Given the description of an element on the screen output the (x, y) to click on. 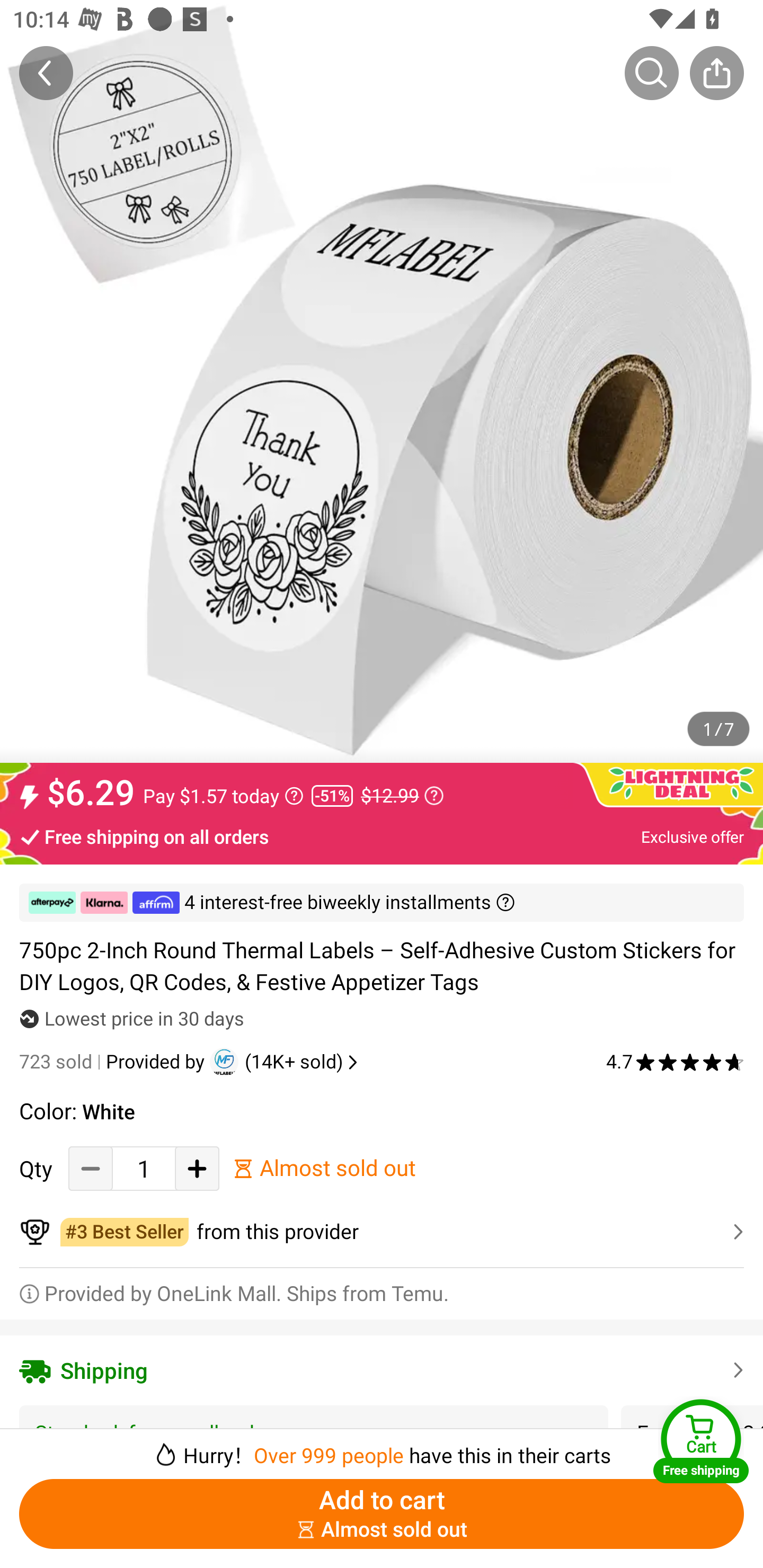
Back (46, 72)
Share (716, 72)
Pay $1.57 today   (223, 795)
Free shipping on all orders Exclusive offer (381, 836)
￼ ￼ ￼ 4 interest-free biweekly installments ￼ (381, 902)
723 sold Provided by  (114, 1061)
4.7 (674, 1061)
Decrease Quantity Button (90, 1168)
1 (143, 1168)
Add Quantity button (196, 1168)
￼￼from this provider (381, 1231)
Shipping (381, 1369)
Cart Free shipping Cart (701, 1440)
￼￼Hurry！Over 999 people have this in their carts (381, 1448)
Add to cart ￼￼Almost sold out (381, 1513)
